Given the description of an element on the screen output the (x, y) to click on. 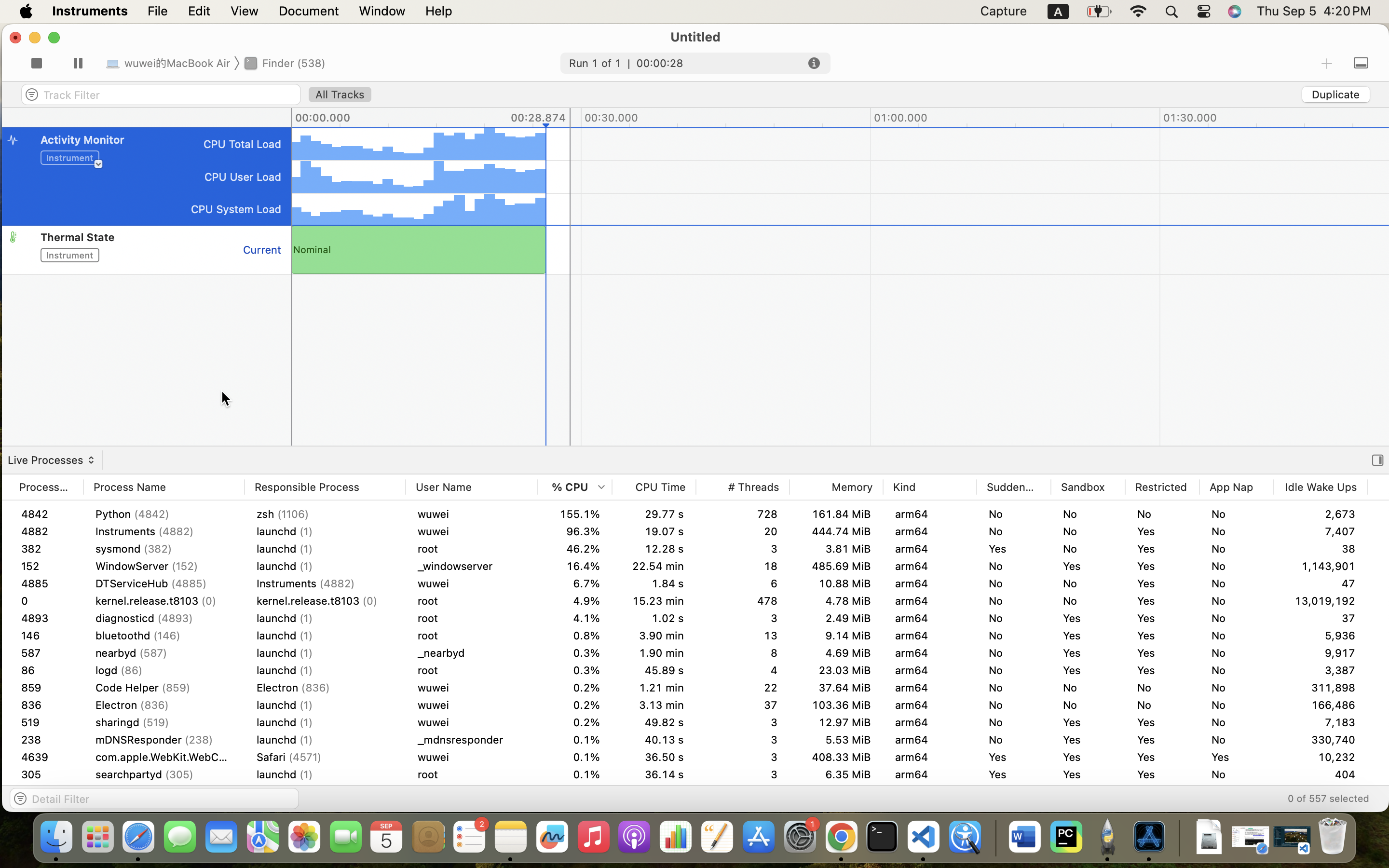
38 Element type: AXStaticText (1320, 548)
47.17 MiB Element type: AXStaticText (835, 808)
4639 Element type: AXStaticText (46, 791)
0.6% Element type: AXStaticText (574, 670)
launchd (1) Element type: AXStaticText (324, 652)
